Given the description of an element on the screen output the (x, y) to click on. 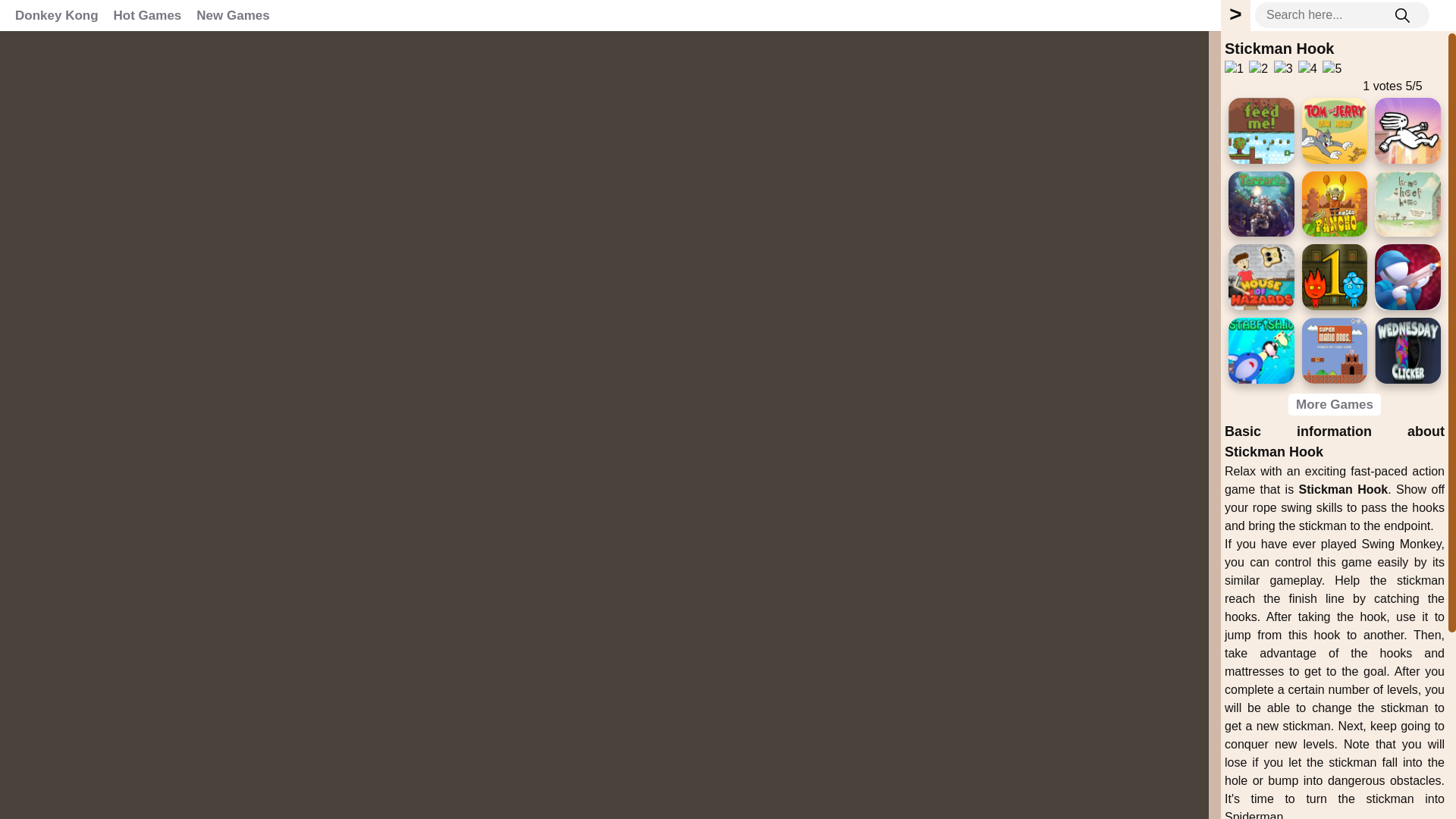
Super Mario Bros (1334, 350)
New Games (232, 15)
Fireboy And Watergirl 1 (1334, 277)
House Of Hazards (1261, 277)
Stabfish.io (1261, 350)
bad (1233, 68)
good (1307, 68)
Donkey Kong (56, 15)
poor (1258, 68)
gorgeous (1331, 68)
More Games (1334, 404)
Hot Games (147, 15)
Tom And Jerry: Run Jerry (1334, 130)
Feed Me (1261, 130)
Terraria (1261, 204)
